Given the description of an element on the screen output the (x, y) to click on. 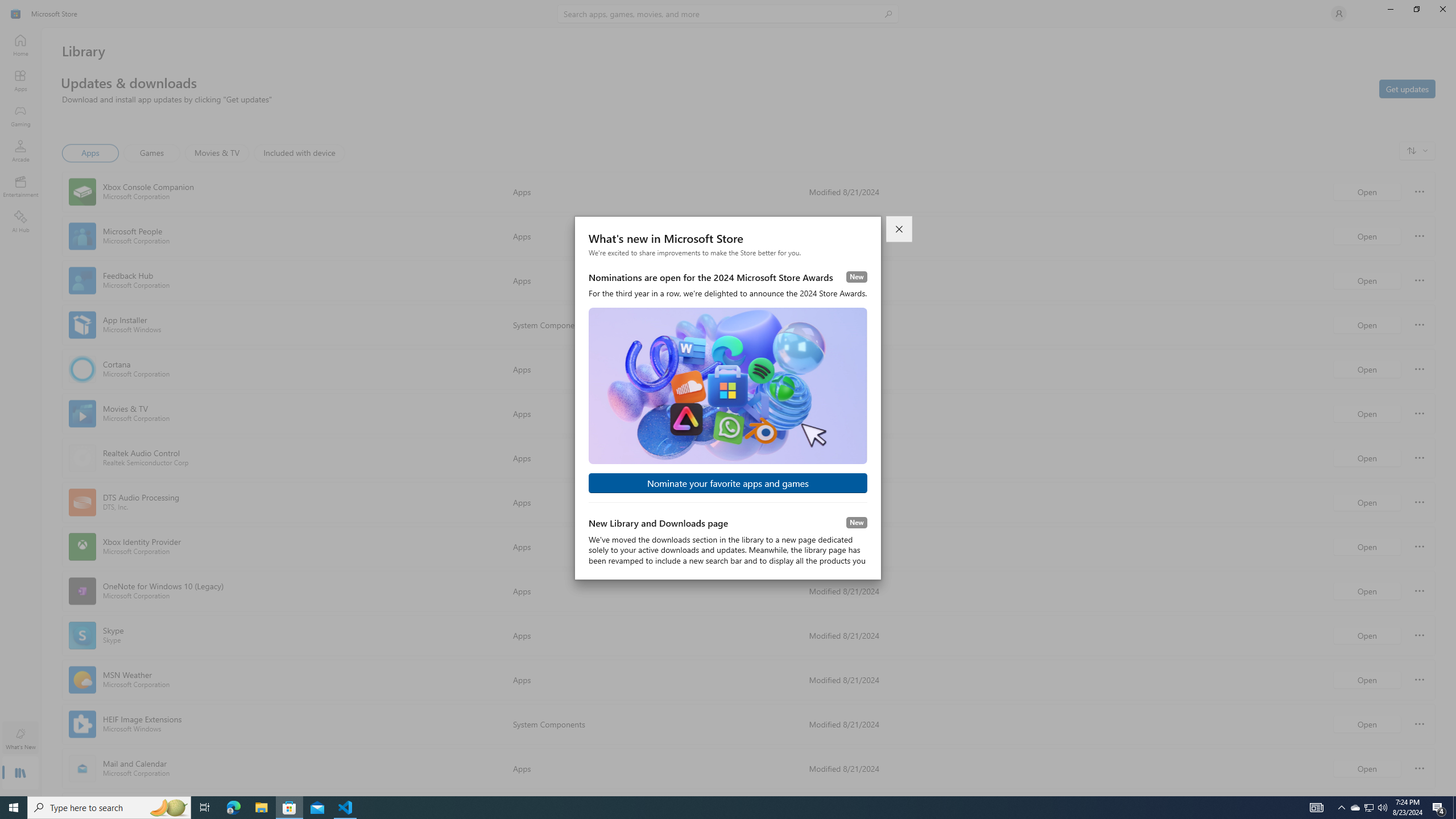
AutomationID: NavigationControl (728, 398)
More options (1419, 768)
Apps (90, 153)
Entertainment (20, 185)
Home (20, 45)
Restore Microsoft Store (1416, 9)
Arcade (20, 150)
Games (151, 153)
Gaming (20, 115)
Open (1366, 768)
